Given the description of an element on the screen output the (x, y) to click on. 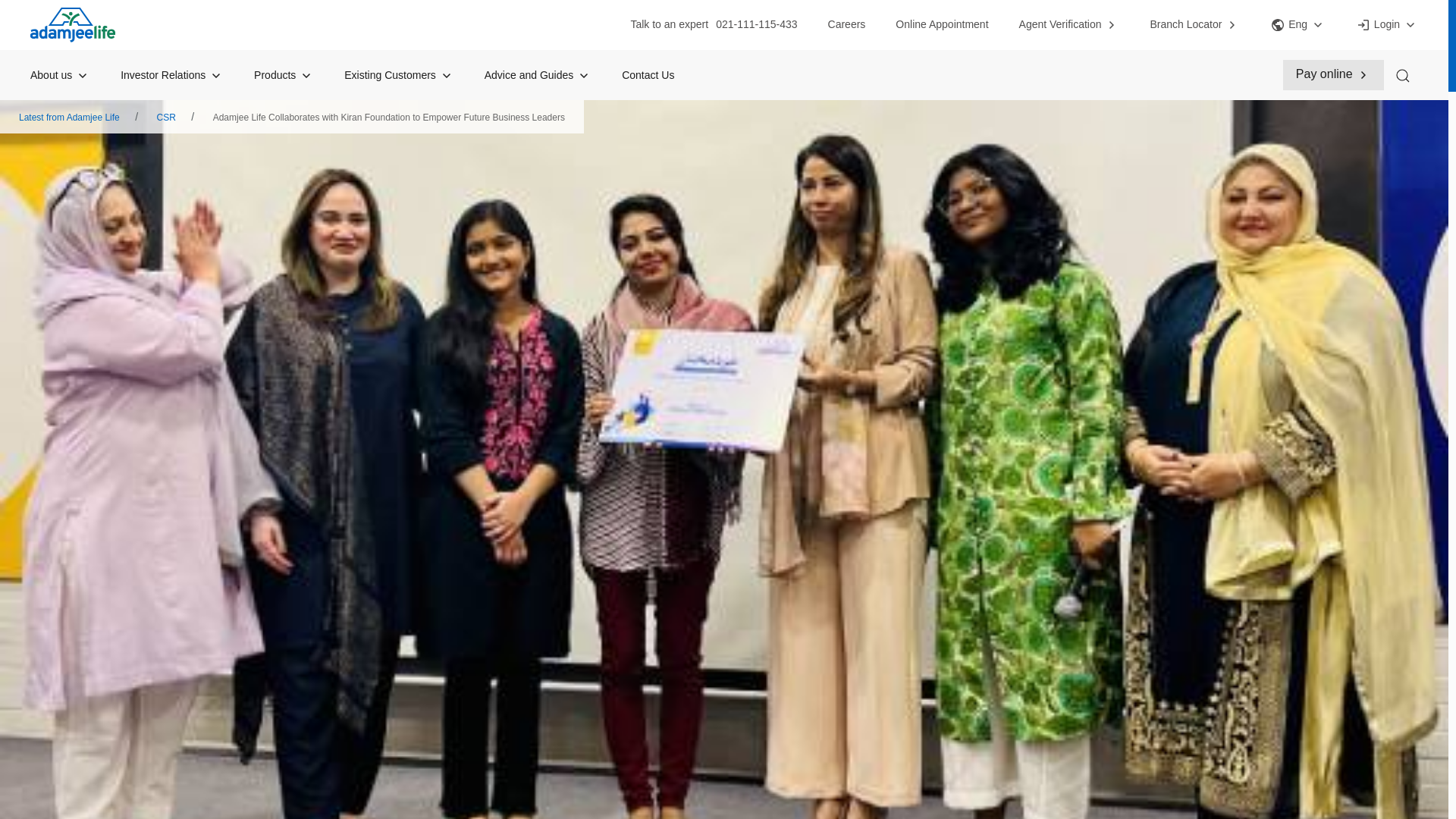
Careers (847, 23)
Online Appointment (941, 23)
Login (1386, 23)
About us (60, 74)
Branch Locator (1195, 23)
Products (283, 74)
Agent Verification (1069, 23)
Investor Relations (172, 74)
Existing Customers (397, 74)
Eng (1296, 23)
